Given the description of an element on the screen output the (x, y) to click on. 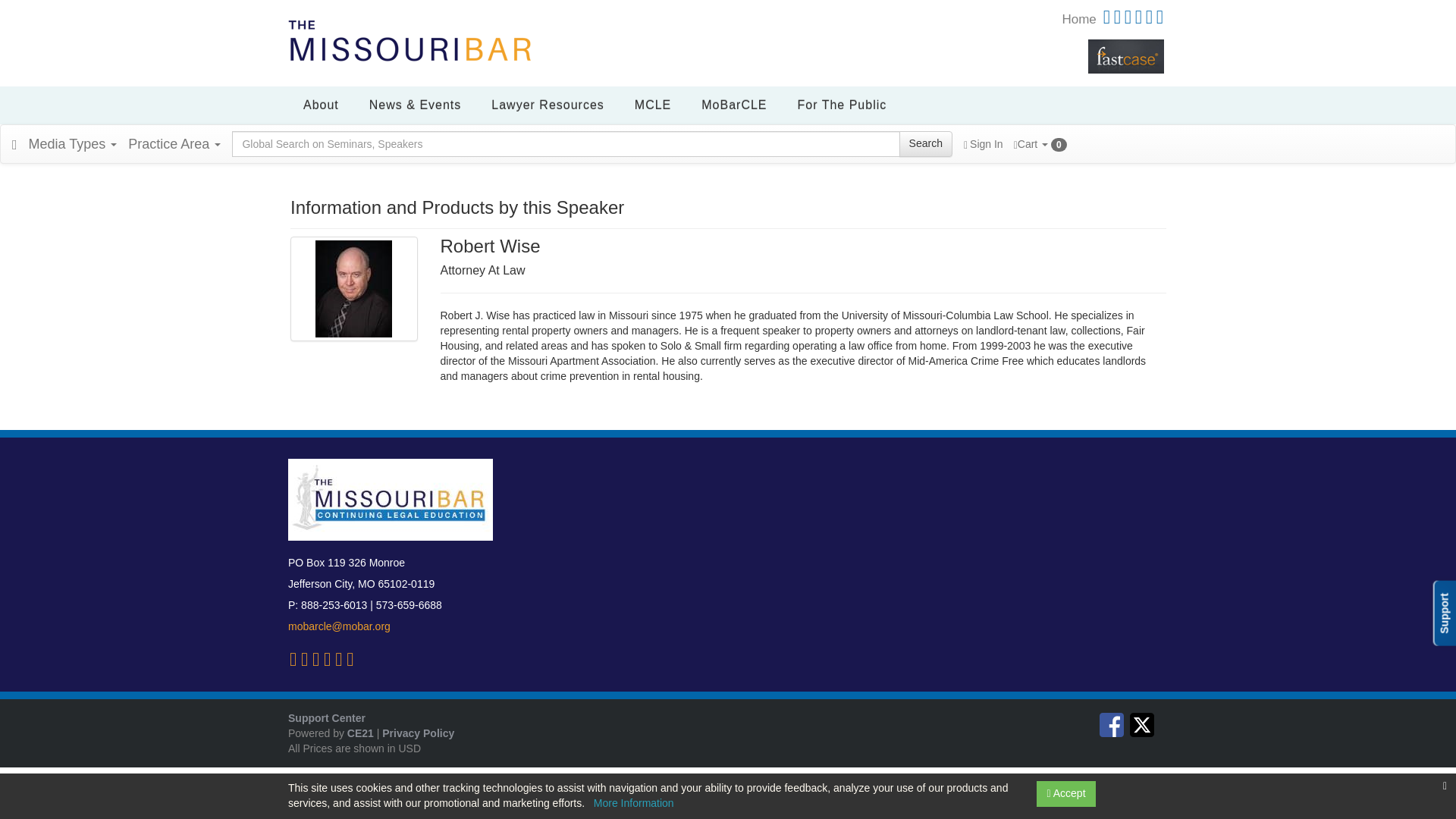
About (320, 105)
Home (1078, 19)
Lawyer Resources (548, 105)
